Given the description of an element on the screen output the (x, y) to click on. 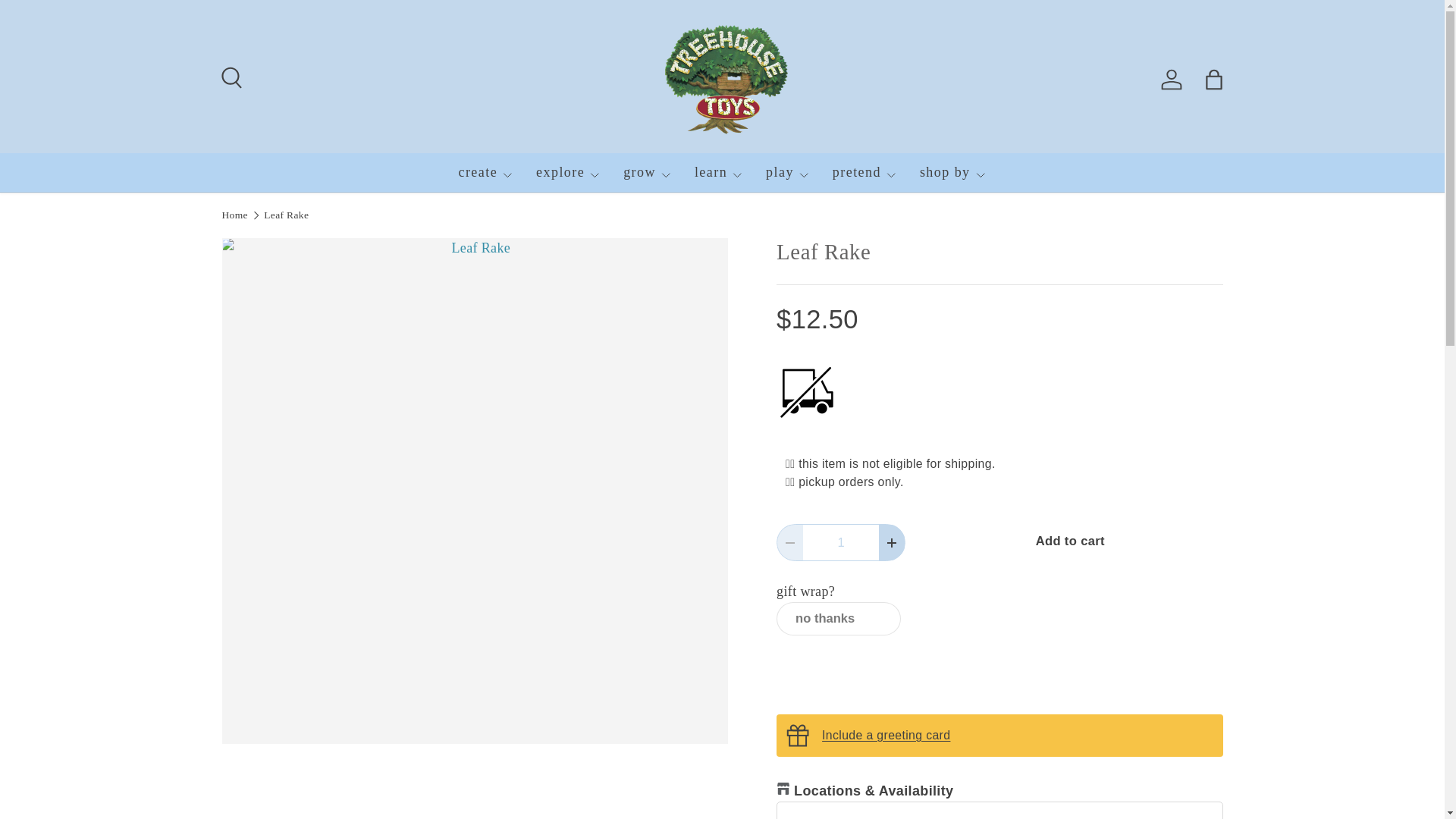
1 (841, 542)
greeting cards (886, 735)
Skip to content (64, 21)
Search (229, 75)
create (485, 172)
Bag (1213, 79)
Log in (1171, 79)
